Given the description of an element on the screen output the (x, y) to click on. 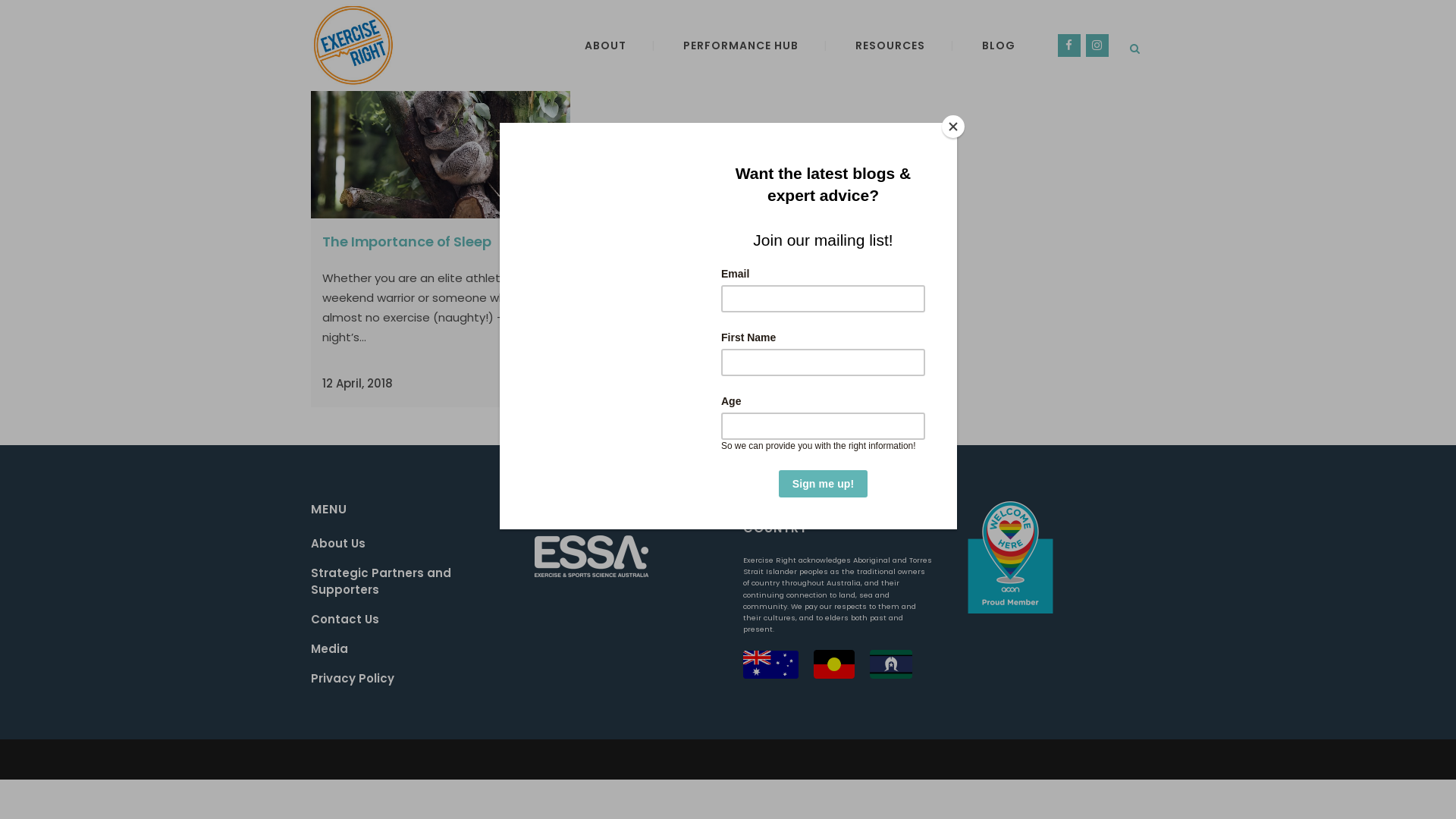
PERFORMANCE HUB Element type: text (740, 45)
ABOUT Element type: text (605, 45)
RESOURCES Element type: text (889, 45)
About Us Element type: text (409, 543)
The Importance of Sleep Element type: text (406, 241)
Contact Us Element type: text (409, 619)
Strategic Partners and Supporters Element type: text (409, 581)
Media Element type: text (409, 648)
BLOG Element type: text (998, 45)
Privacy Policy Element type: text (409, 678)
The Importance of Sleep Element type: hover (440, 131)
